Given the description of an element on the screen output the (x, y) to click on. 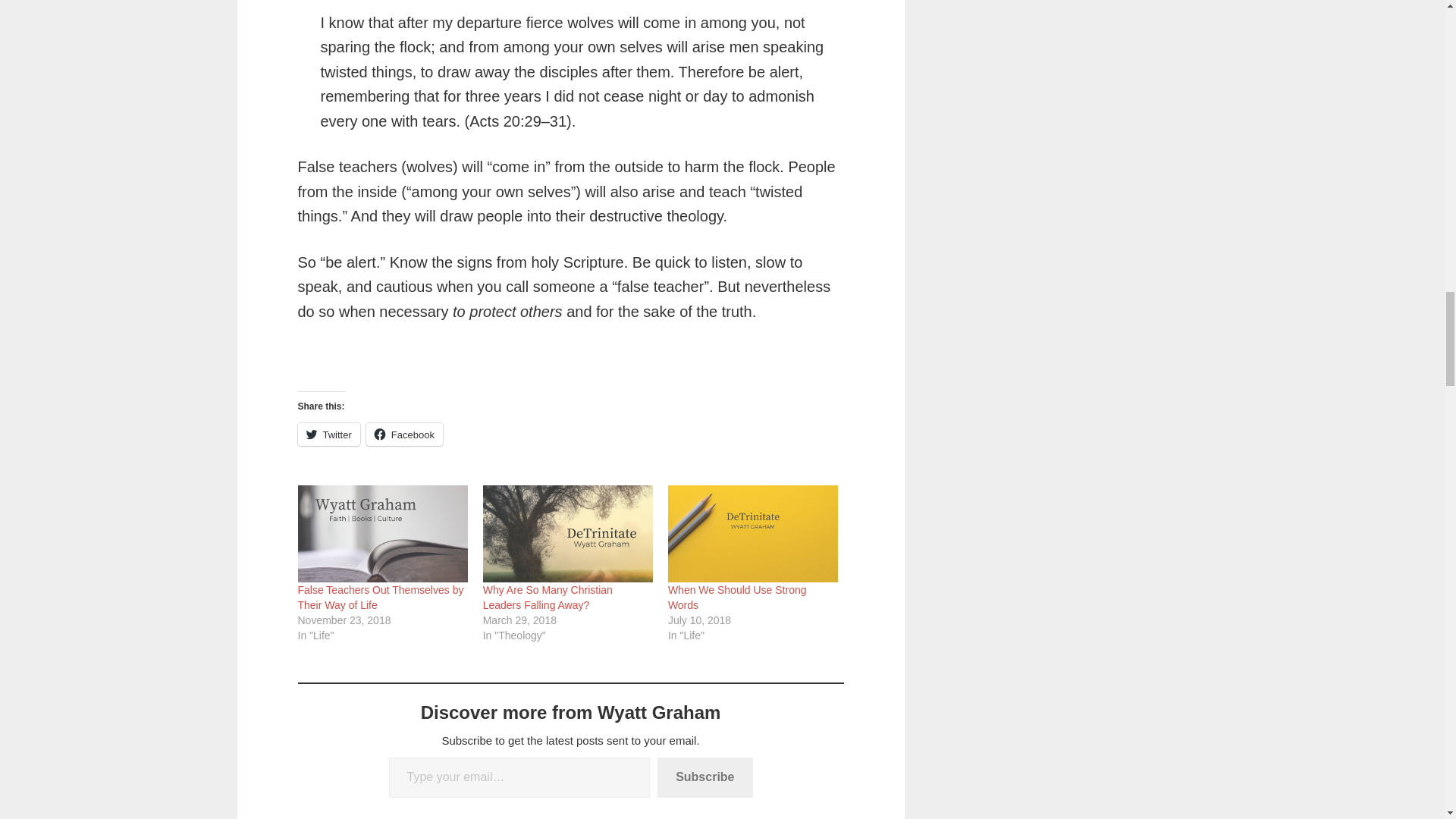
Facebook (404, 434)
False Teachers Out Themselves by Their Way of Life (380, 596)
Please fill in this field. (518, 777)
Subscribe (705, 777)
Why Are So Many Christian Leaders Falling Away? (547, 596)
Why Are So Many Christian Leaders Falling Away? (567, 533)
Why Are So Many Christian Leaders Falling Away? (547, 596)
Click to share on Twitter (328, 434)
Click to share on Facebook (404, 434)
False Teachers Out Themselves by Their Way of Life (382, 533)
Twitter (328, 434)
When We Should Use Strong Words (737, 596)
When We Should Use Strong Words (737, 596)
False Teachers Out Themselves by Their Way of Life (380, 596)
When We Should Use Strong Words (753, 533)
